Given the description of an element on the screen output the (x, y) to click on. 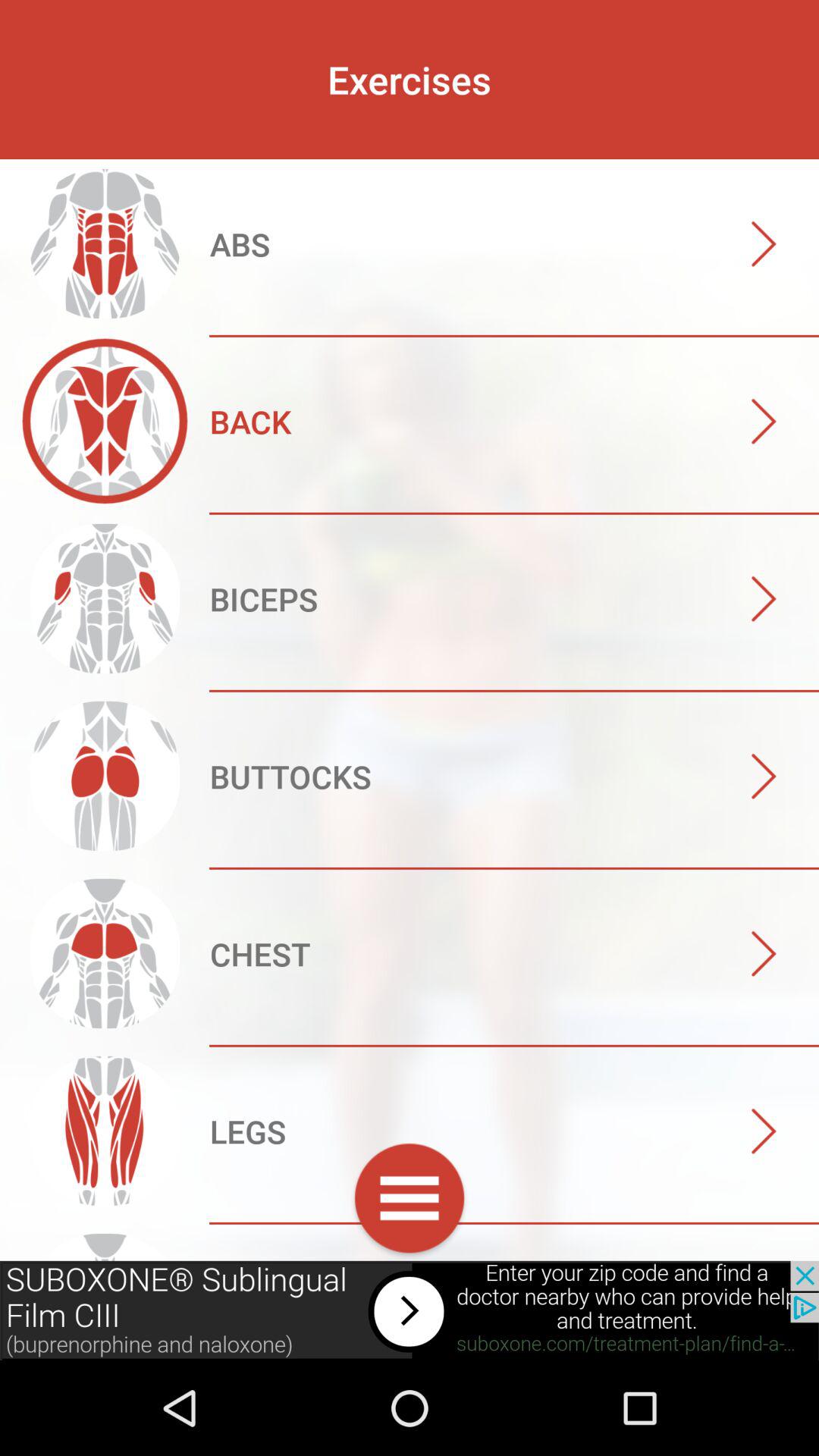
go to customs (409, 1200)
